Given the description of an element on the screen output the (x, y) to click on. 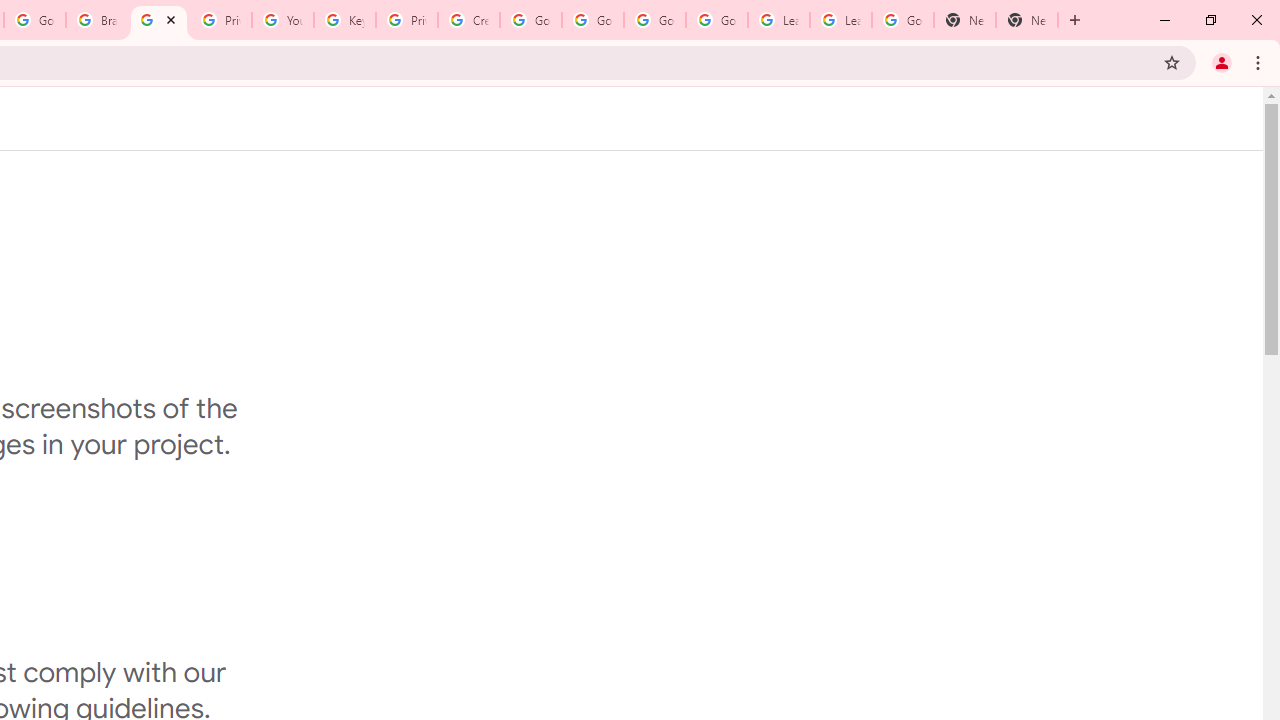
Google Account Help (530, 20)
Google Account Help (592, 20)
Google Account Help (654, 20)
Google Account Help (716, 20)
